Given the description of an element on the screen output the (x, y) to click on. 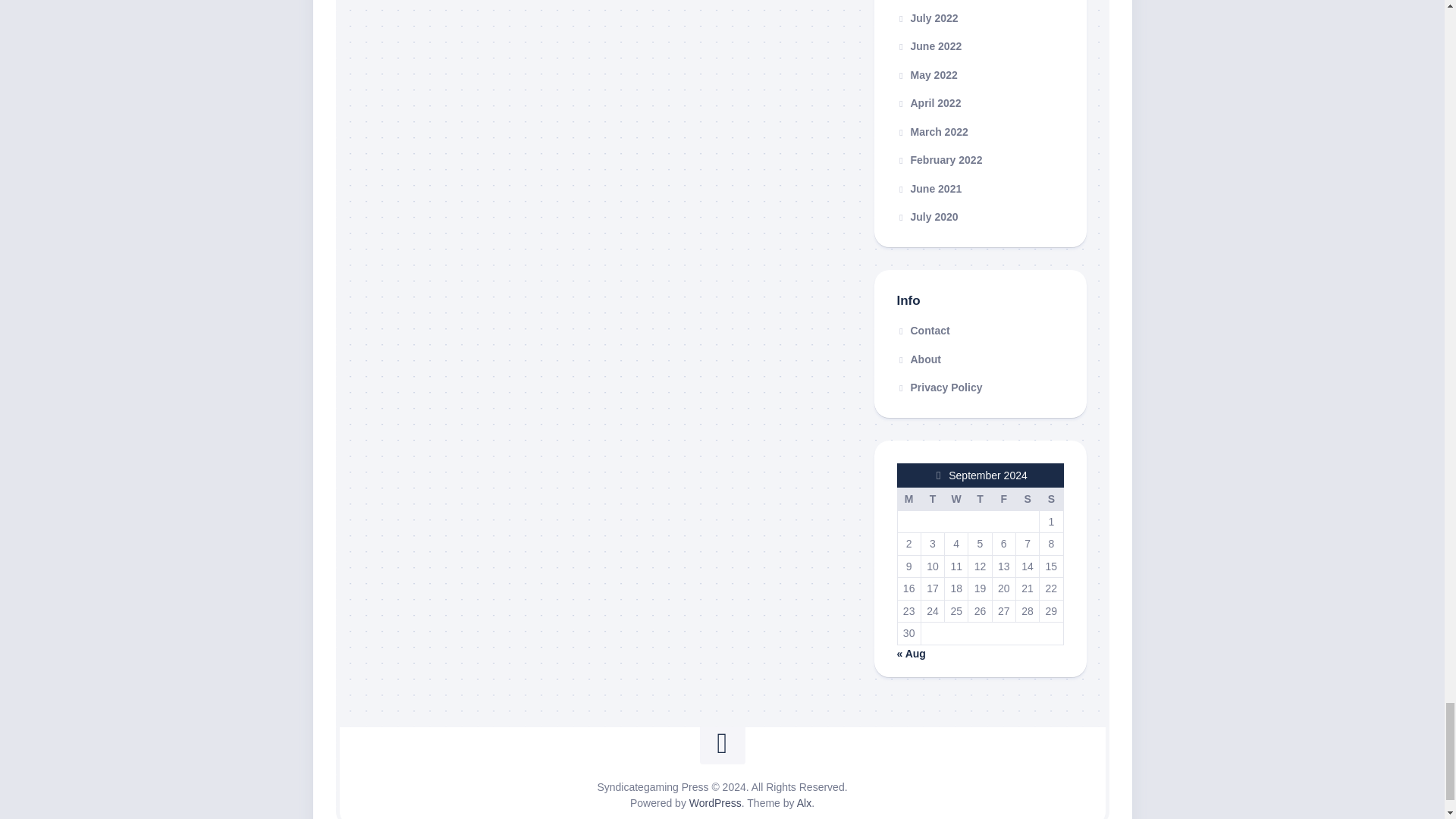
Monday (908, 498)
Wednesday (956, 498)
Tuesday (931, 498)
Saturday (1026, 498)
Sunday (1050, 498)
Friday (1002, 498)
Thursday (979, 498)
